Given the description of an element on the screen output the (x, y) to click on. 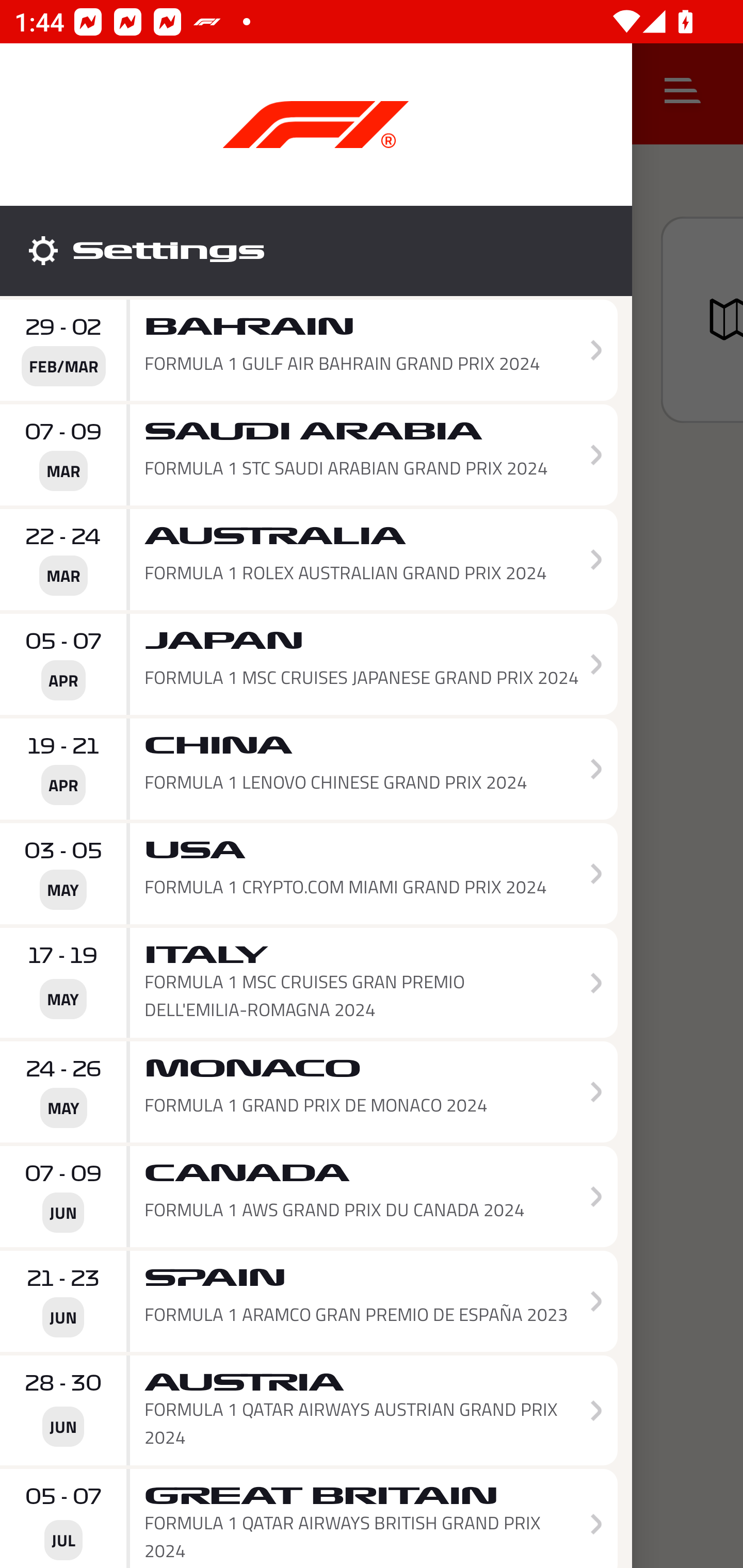
Settings (316, 250)
